Given the description of an element on the screen output the (x, y) to click on. 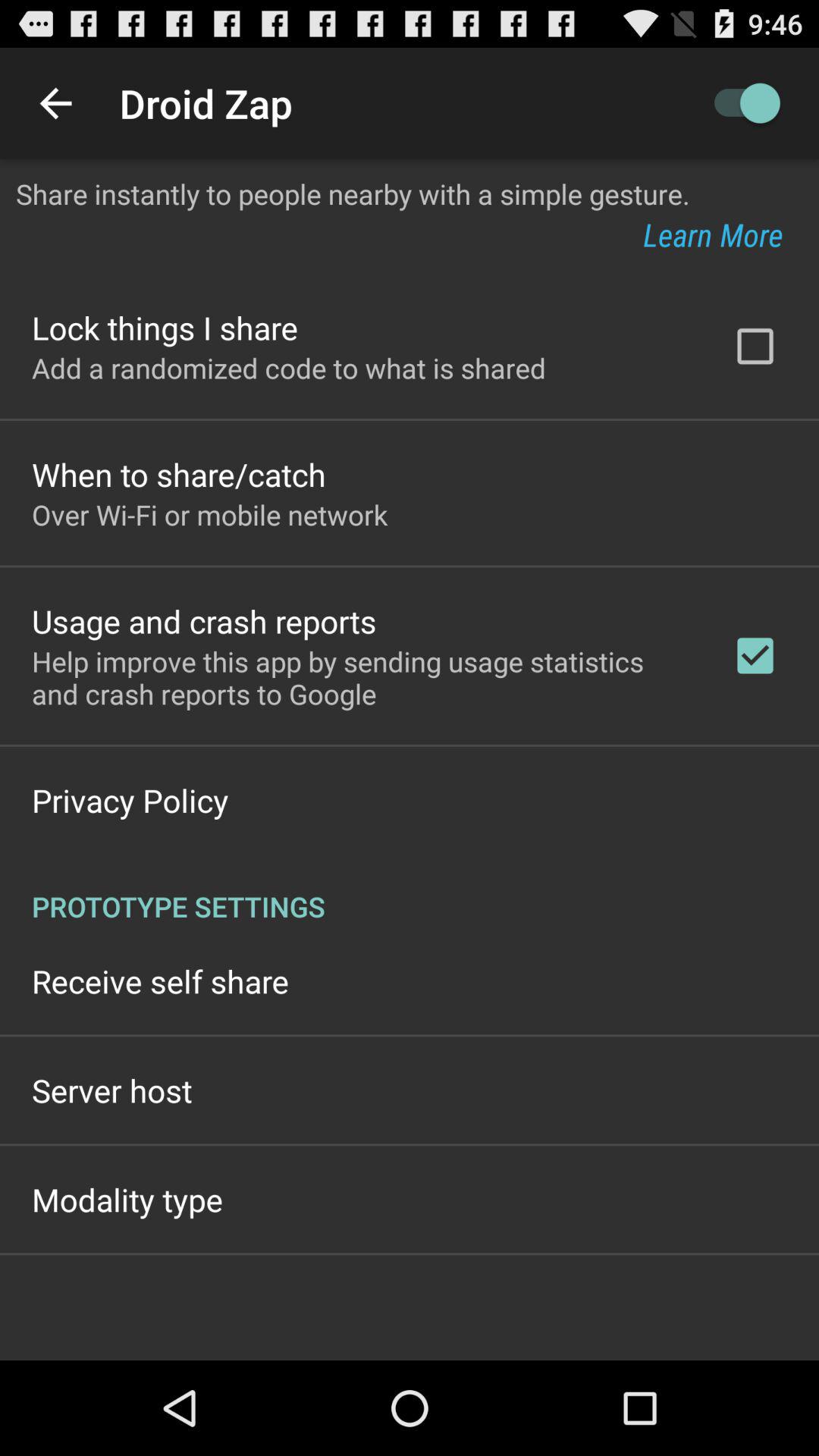
open the app above share instantly to app (739, 103)
